Given the description of an element on the screen output the (x, y) to click on. 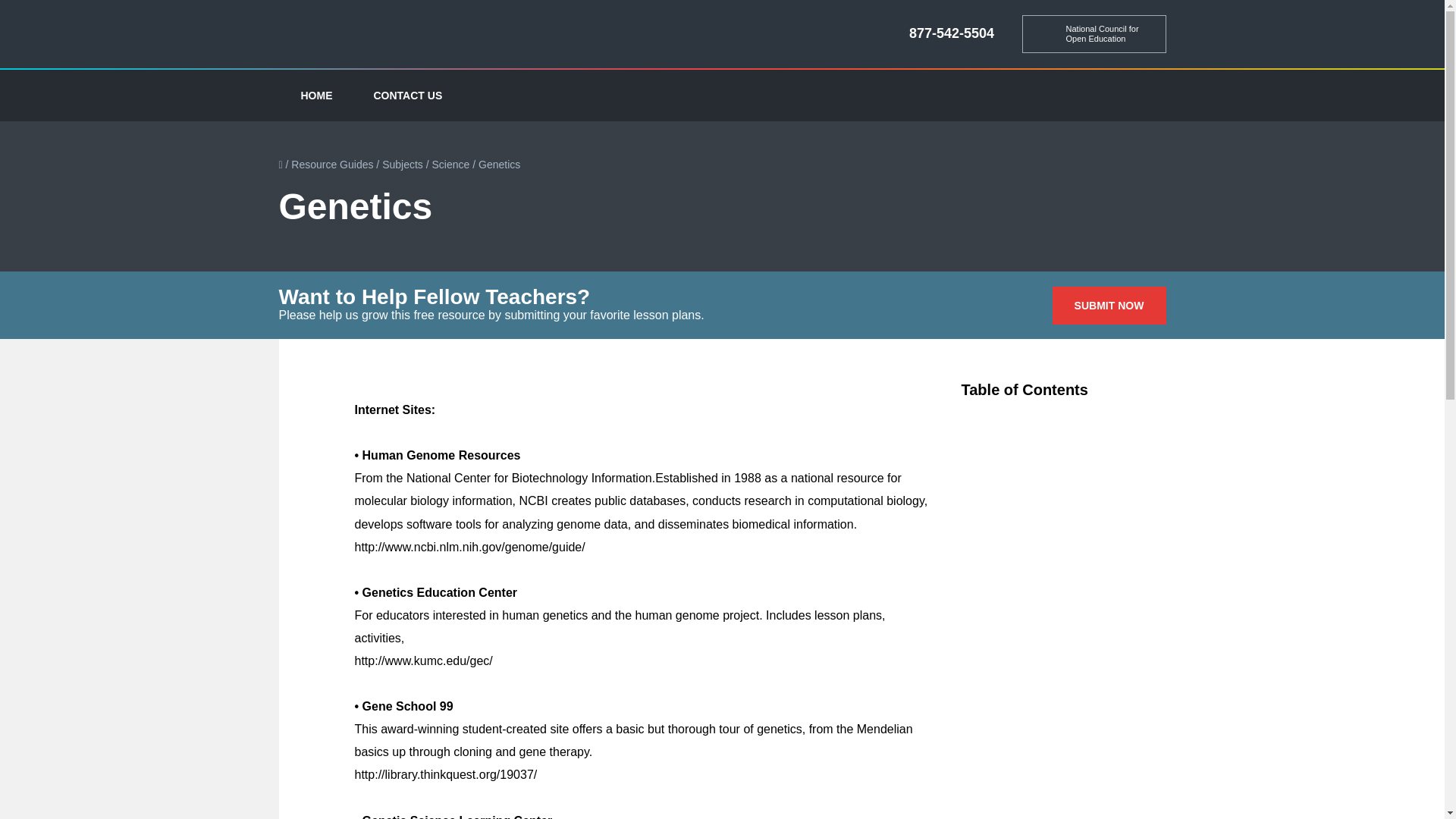
CONTACT US (408, 95)
National Council for Open Education (1094, 34)
Genetics (499, 164)
Science (451, 164)
Resource Guides (331, 164)
Educator's Reference Desk (359, 34)
HOME (317, 95)
877-542-5504 (951, 33)
Subjects (402, 164)
SUBMIT NOW (1109, 305)
